Given the description of an element on the screen output the (x, y) to click on. 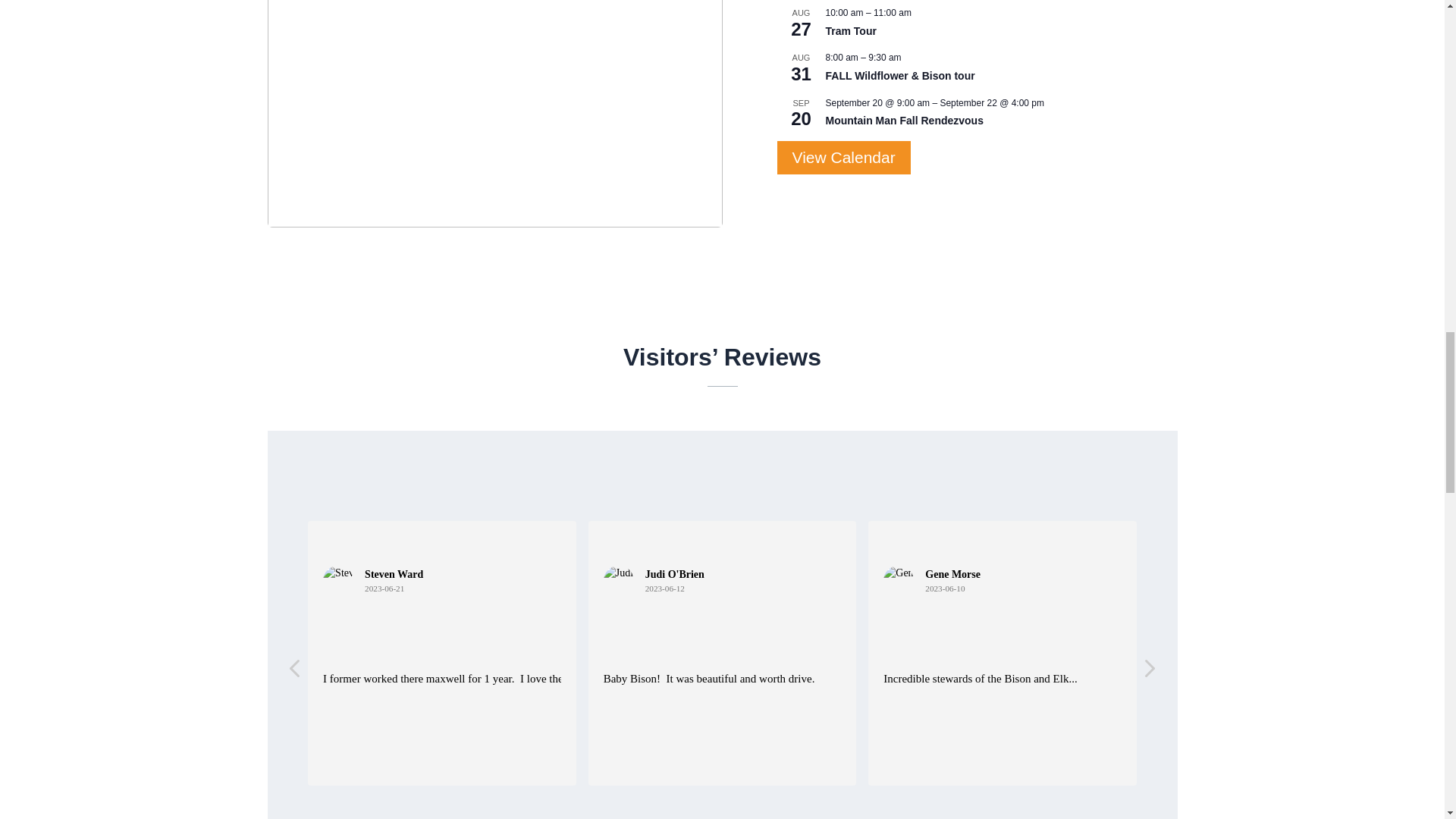
Mountain Man Fall Rendezvous (903, 120)
View more events. (843, 157)
Tram Tour (850, 31)
